Given the description of an element on the screen output the (x, y) to click on. 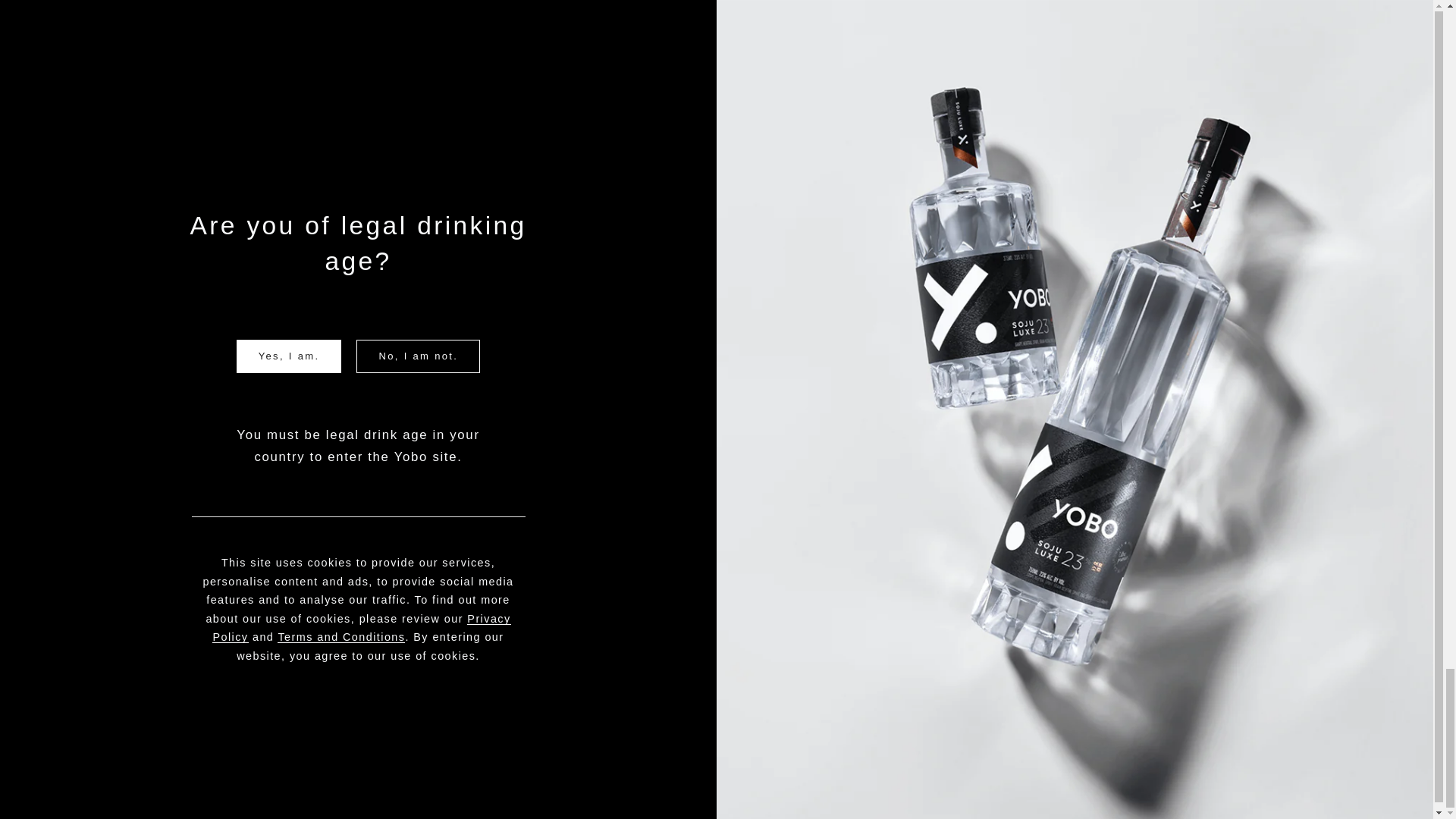
Cocktails (1013, 512)
Contact Us (1018, 562)
Luxe Ultra-Premium Soju (659, 462)
Hunni Sparkling Soju (649, 537)
Store Locator (1024, 537)
Terms of Service (1368, 462)
News (1005, 487)
Our Story (1015, 462)
KTOWN Flavored Soju (653, 512)
